Given the description of an element on the screen output the (x, y) to click on. 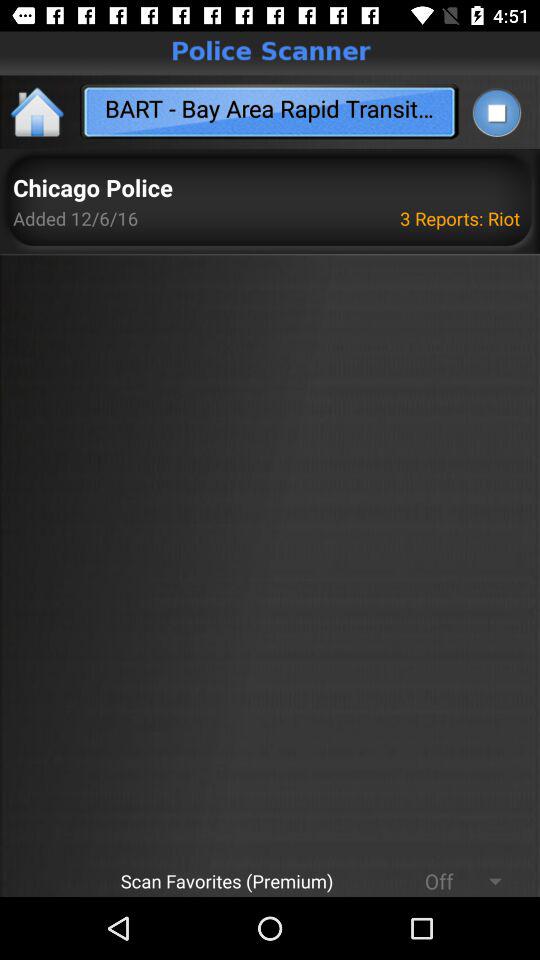
press item above the scan favorites (premium) icon (75, 218)
